Given the description of an element on the screen output the (x, y) to click on. 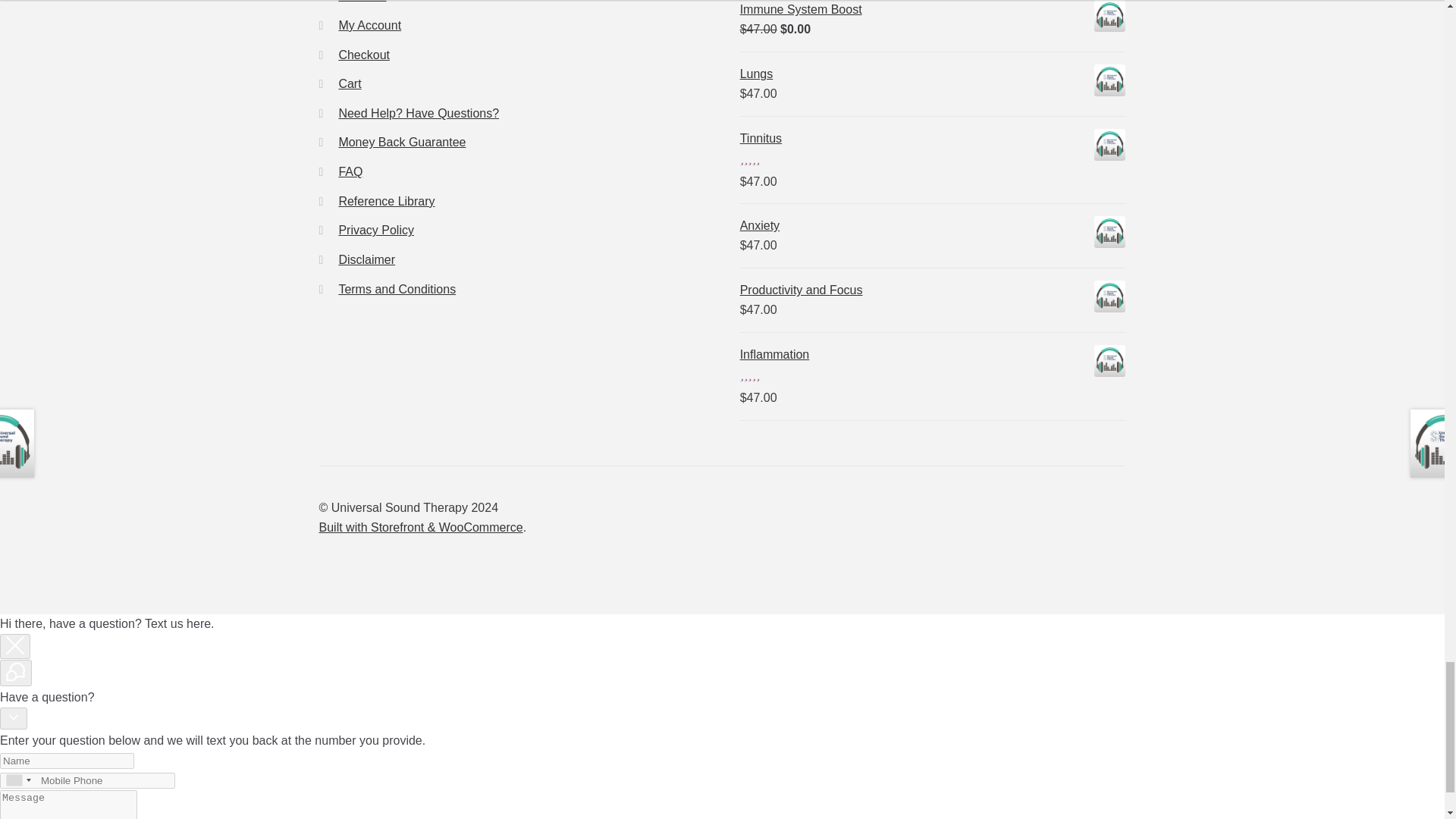
WooCommerce - The Best eCommerce Platform for WordPress (420, 526)
